Given the description of an element on the screen output the (x, y) to click on. 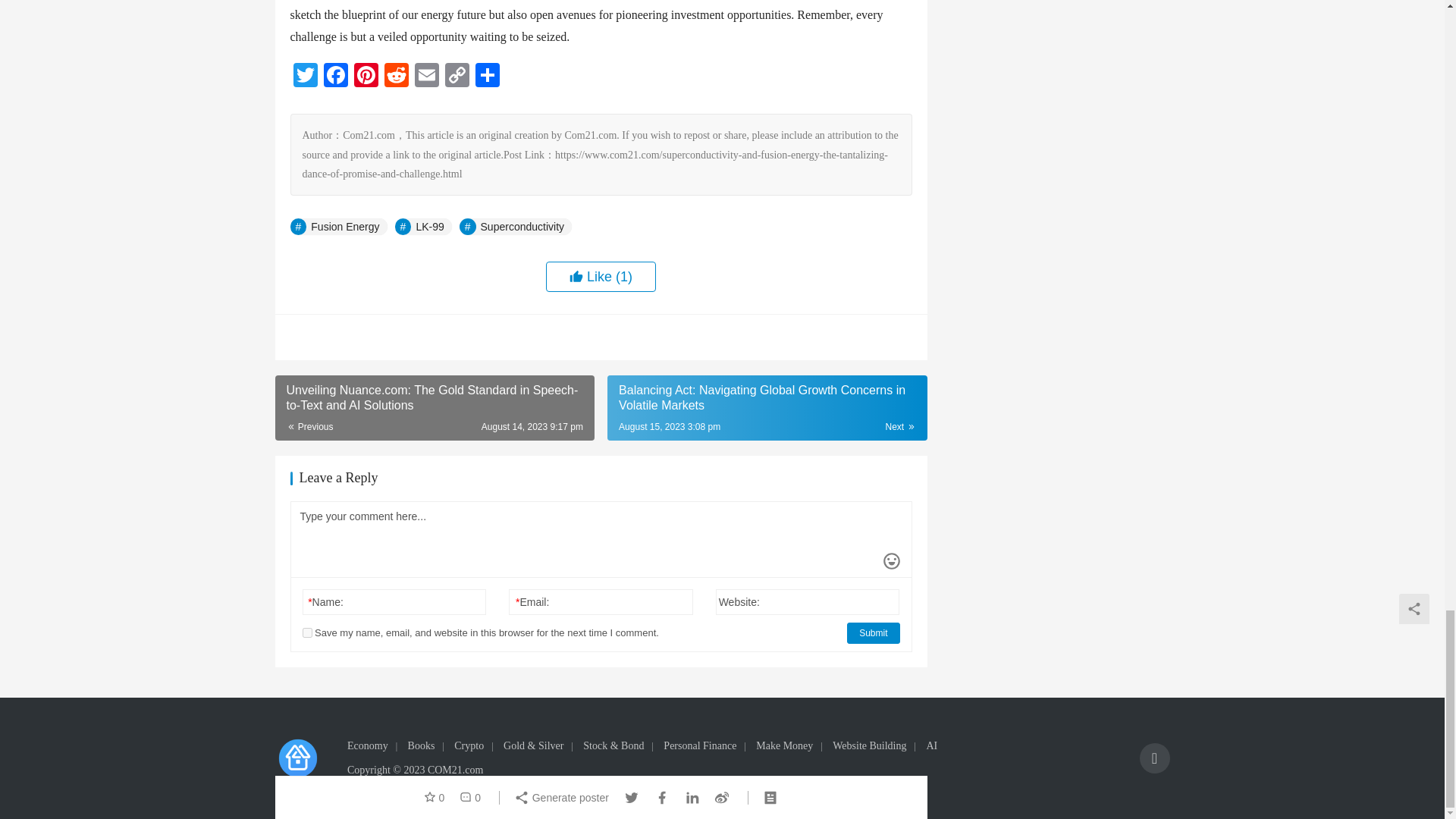
yes (306, 633)
Email (425, 76)
Facebook (335, 76)
Copy Link (456, 76)
Pinterest (365, 76)
Reddit (395, 76)
Twitter (304, 76)
Twitter (304, 76)
Facebook (335, 76)
Pinterest (365, 76)
